Given the description of an element on the screen output the (x, y) to click on. 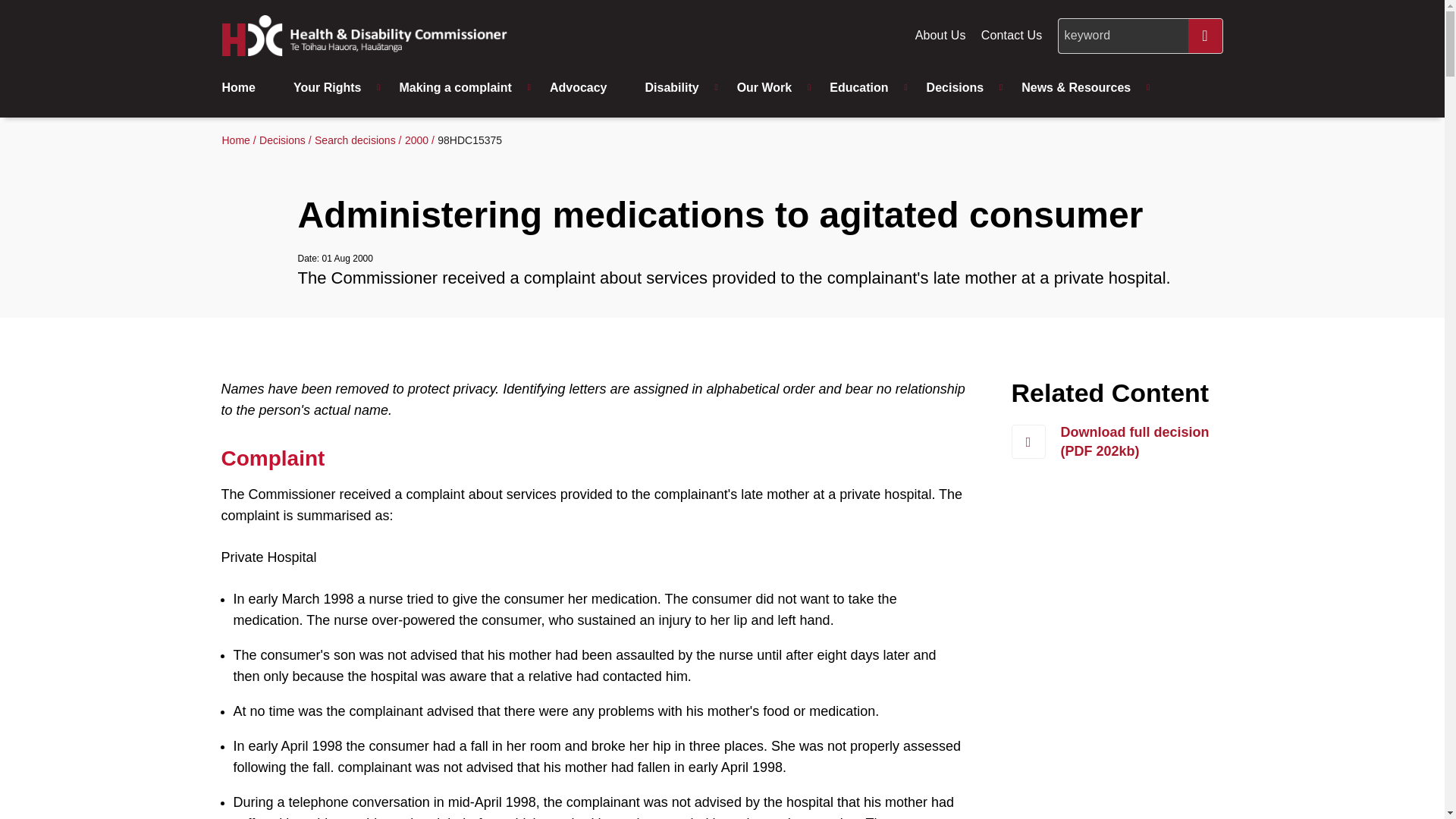
Our Work (768, 87)
Making a complaint (459, 87)
Education (862, 87)
Advocacy (582, 87)
Home (249, 87)
Your Rights (331, 87)
Disability (674, 87)
